Given the description of an element on the screen output the (x, y) to click on. 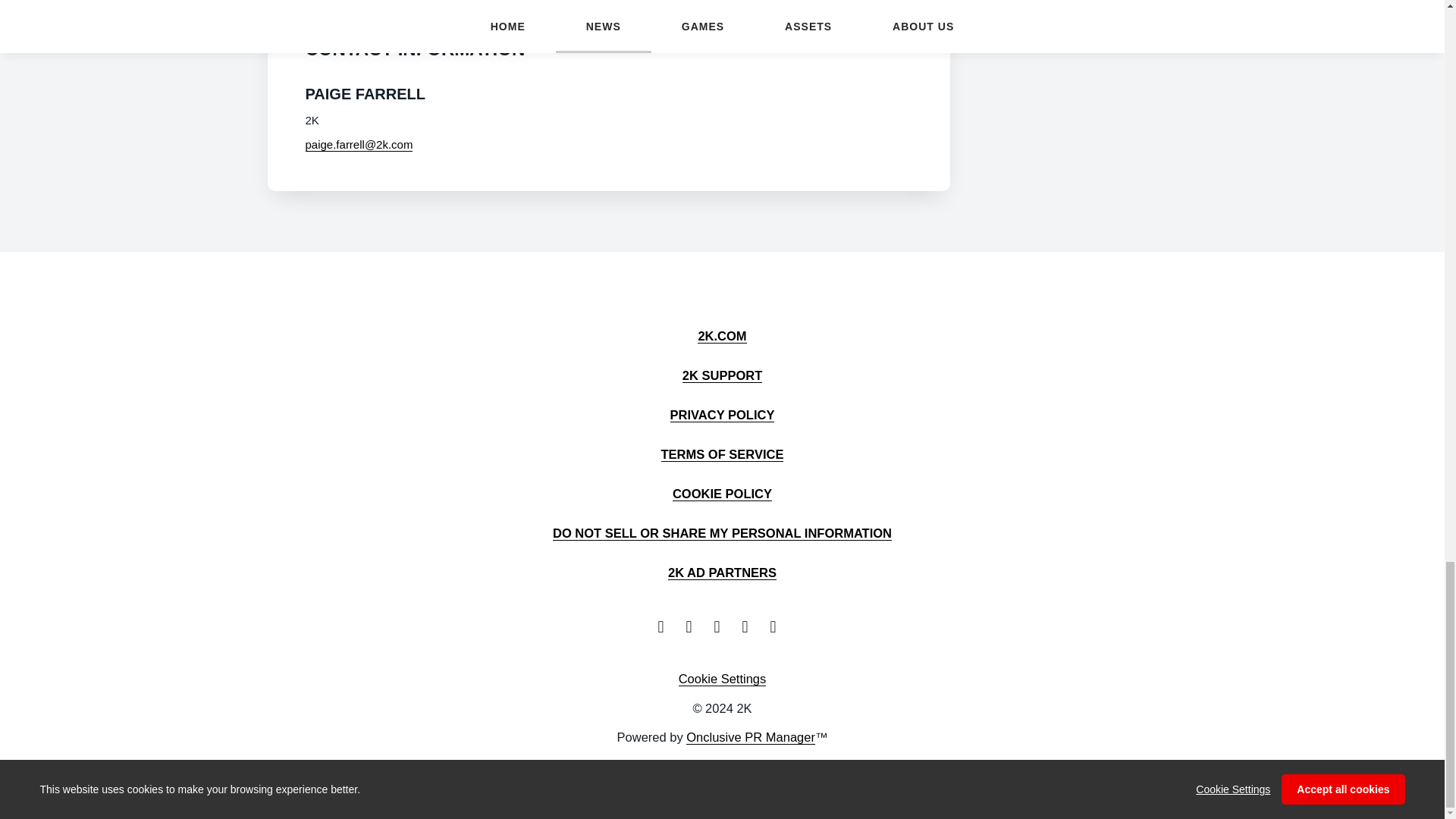
TERMS OF SERVICE (722, 454)
Facebook (693, 627)
2K.COM (721, 336)
DO NOT SELL OR SHARE MY PERSONAL INFORMATION (722, 533)
Twitch (749, 627)
PRIVACY POLICY (721, 414)
COOKIE POLICY (721, 493)
2K SUPPORT (721, 375)
COOKIE POLICY (721, 493)
PRIVACY POLICY (721, 414)
YouTube (722, 627)
2K.COM (721, 336)
2K AD PARTNERS (722, 572)
DO NOT SELL OR SHARE MY PERSONAL INFORMATION (722, 533)
2K SUPPORT (721, 375)
